Given the description of an element on the screen output the (x, y) to click on. 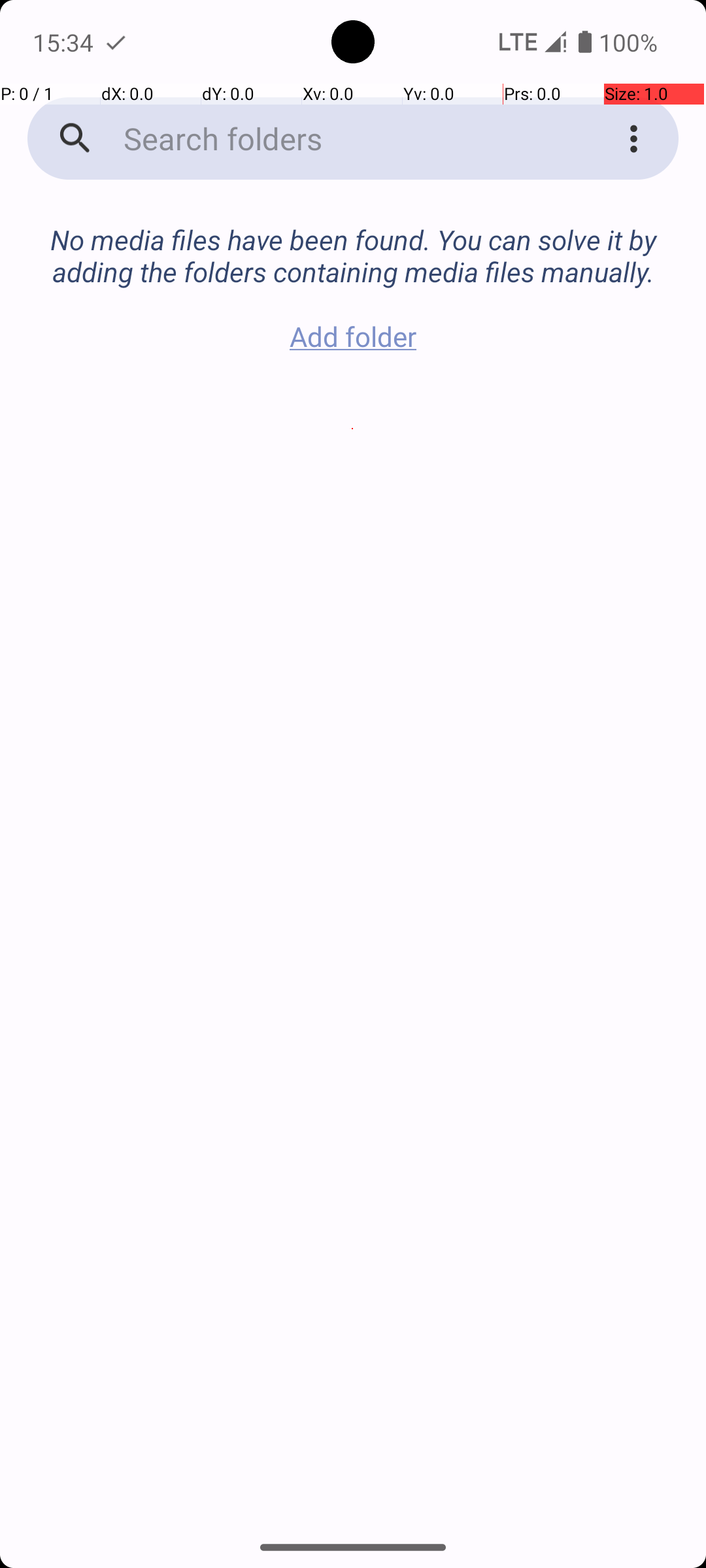
No media files have been found. You can solve it by adding the folders containing media files manually. Element type: android.widget.TextView (353, 241)
Add folder Element type: android.widget.TextView (352, 336)
